Given the description of an element on the screen output the (x, y) to click on. 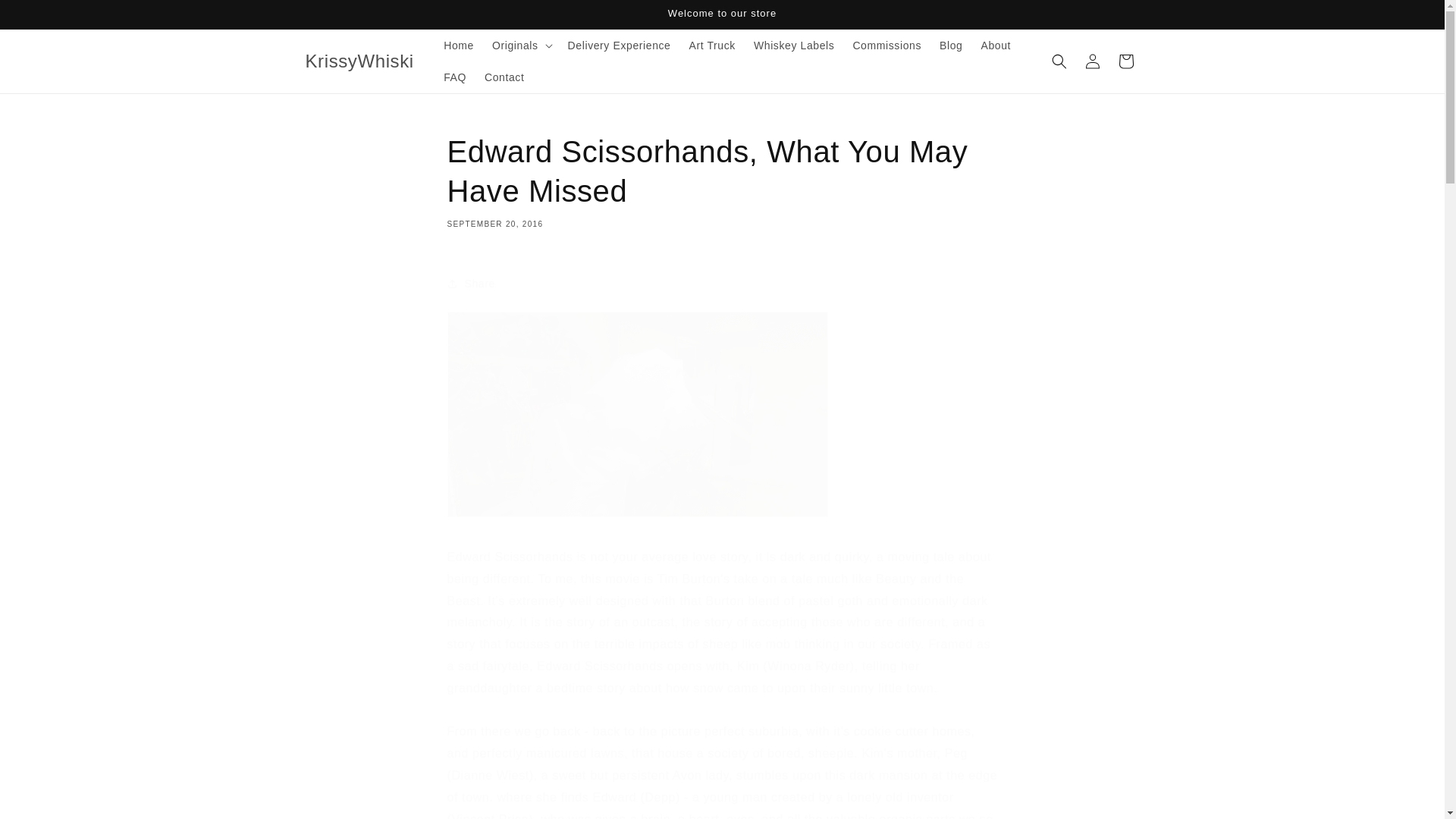
Delivery Experience (619, 45)
Contact (504, 77)
KrissyWhiski (359, 61)
Blog (950, 45)
Home (458, 45)
Whiskey Labels (793, 45)
FAQ (454, 77)
Commissions (886, 45)
About (995, 45)
